Given the description of an element on the screen output the (x, y) to click on. 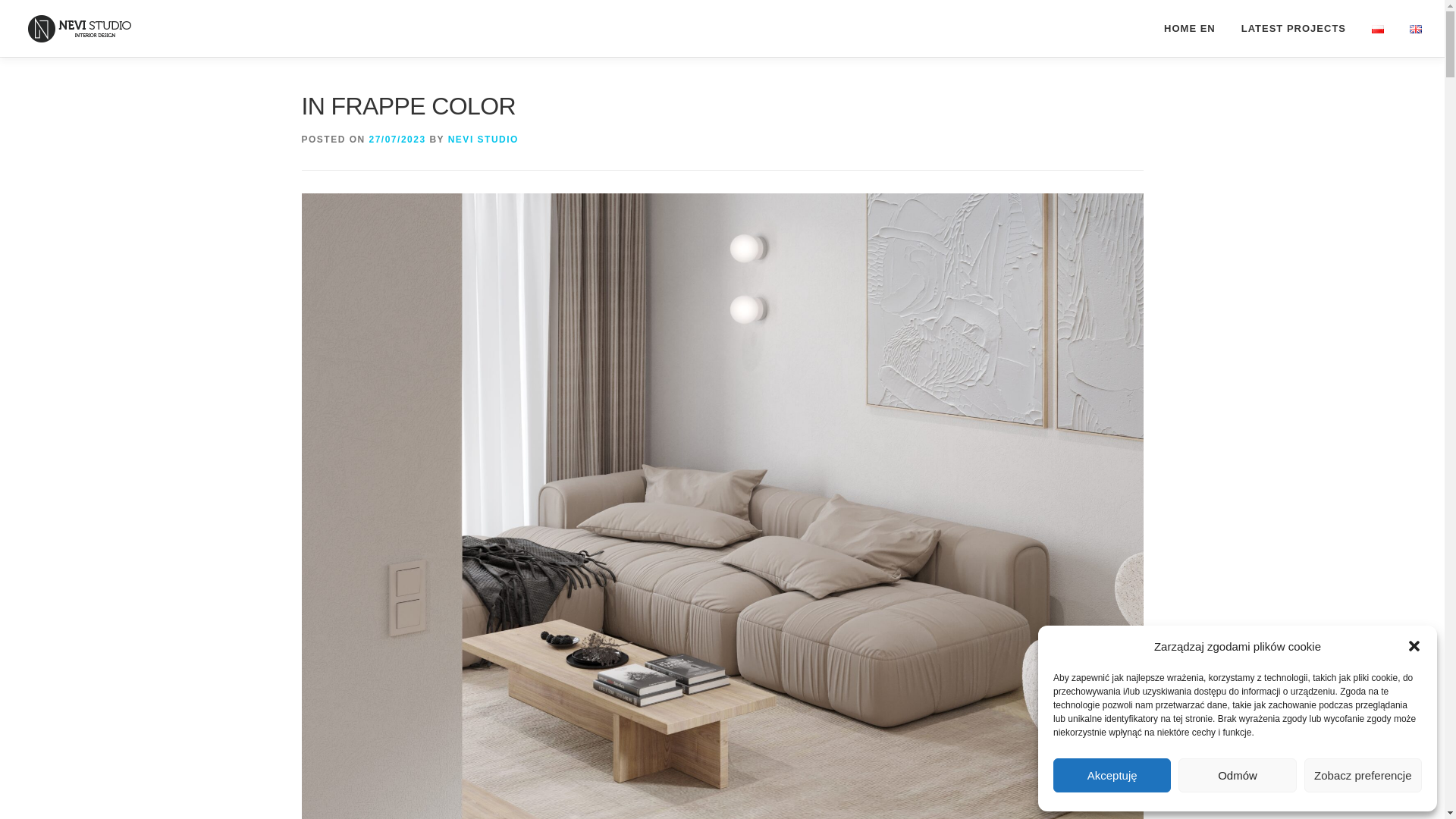
Zobacz preferencje (1363, 775)
HOME EN (1189, 28)
NEVI STUDIO (483, 139)
LATEST PROJECTS (1293, 28)
